Given the description of an element on the screen output the (x, y) to click on. 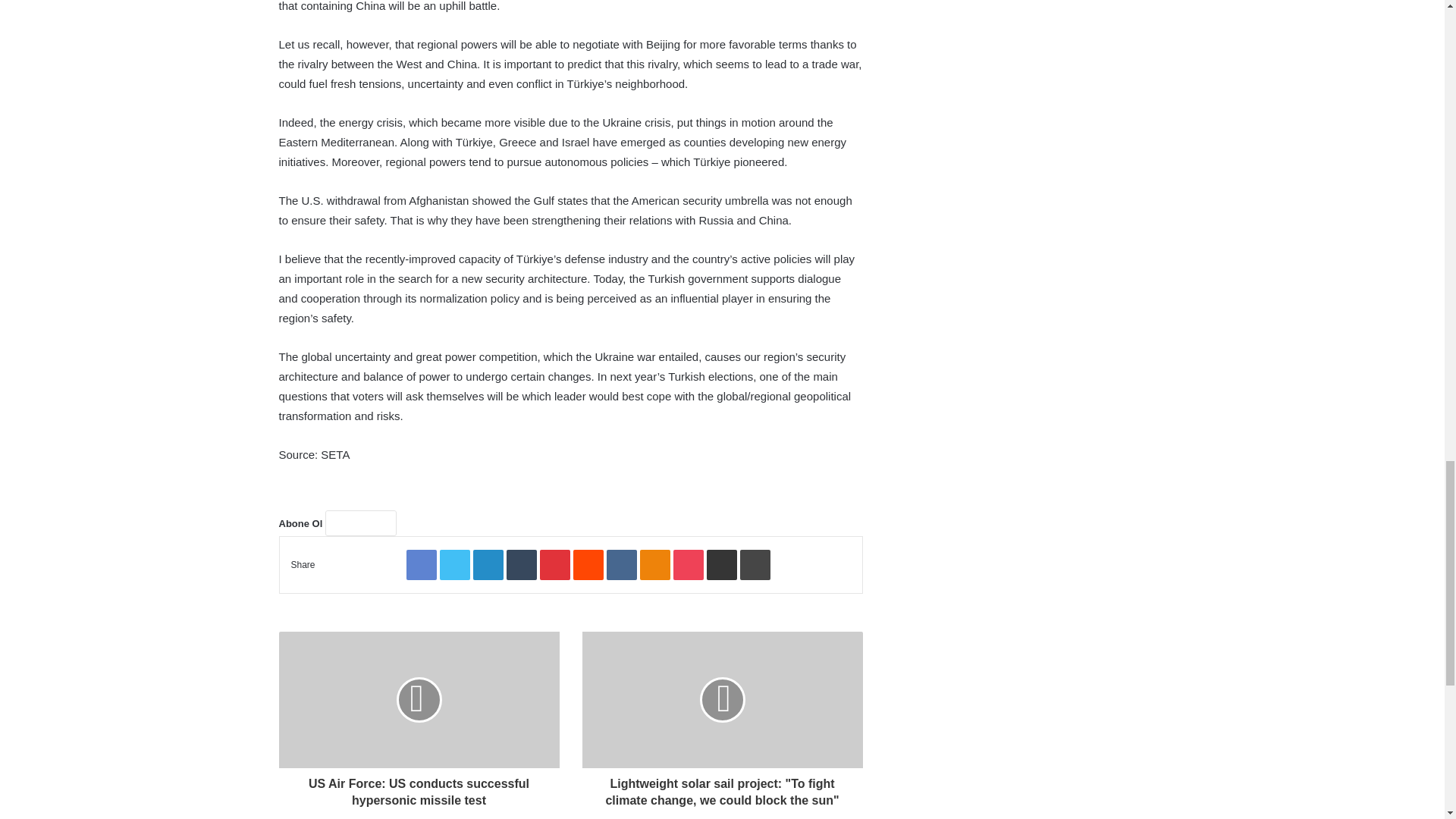
Abone Ol (360, 523)
